Given the description of an element on the screen output the (x, y) to click on. 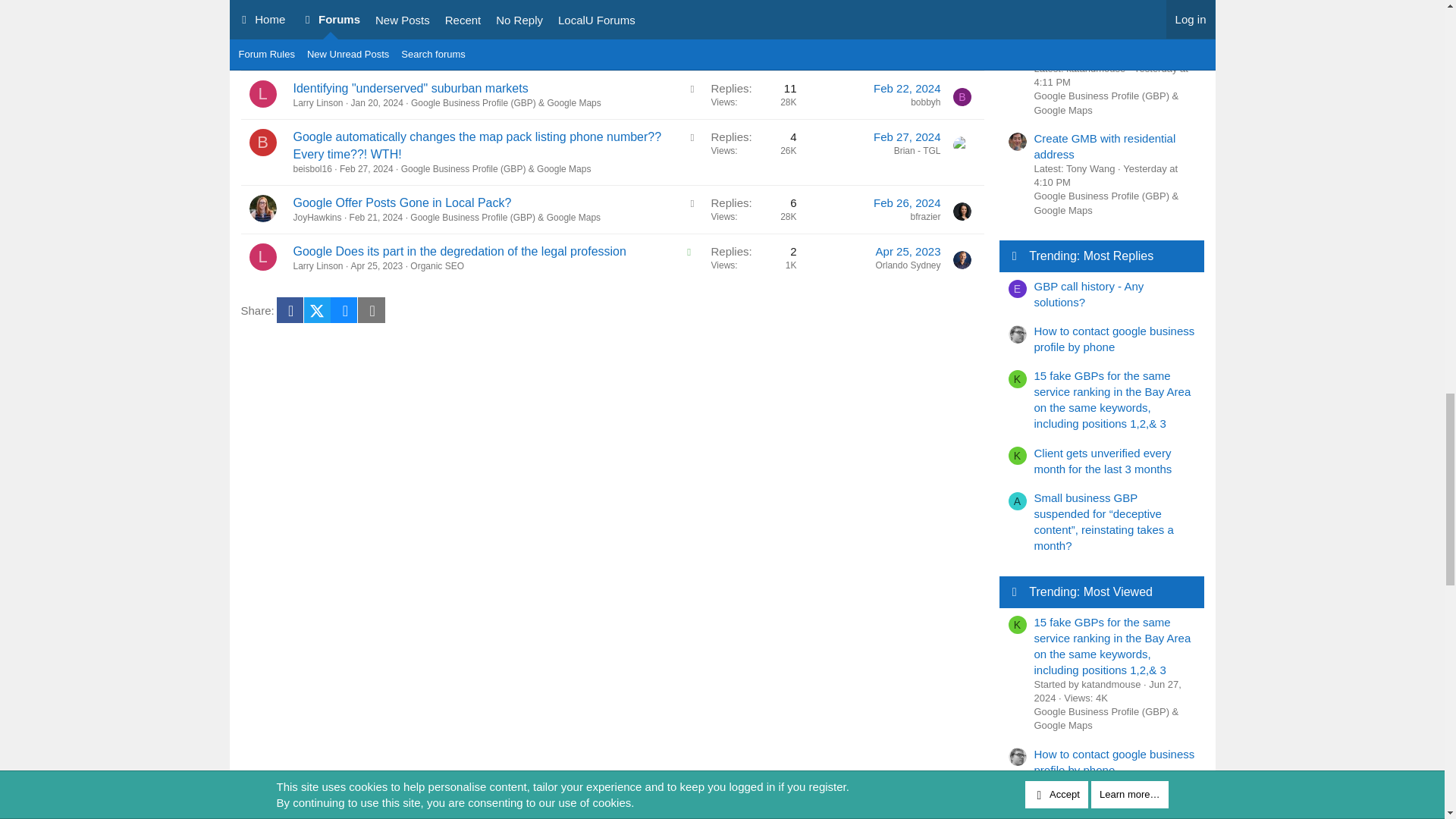
Apr 3, 2024 at 12:21 PM (911, 39)
First message reaction score: 1 (753, 46)
Feb 22, 2024 at 6:30 PM (906, 88)
Jan 20, 2024 at 11:05 AM (376, 102)
Mar 29, 2024 at 4:10 PM (386, 54)
First message reaction score: 0 (753, 95)
